Given the description of an element on the screen output the (x, y) to click on. 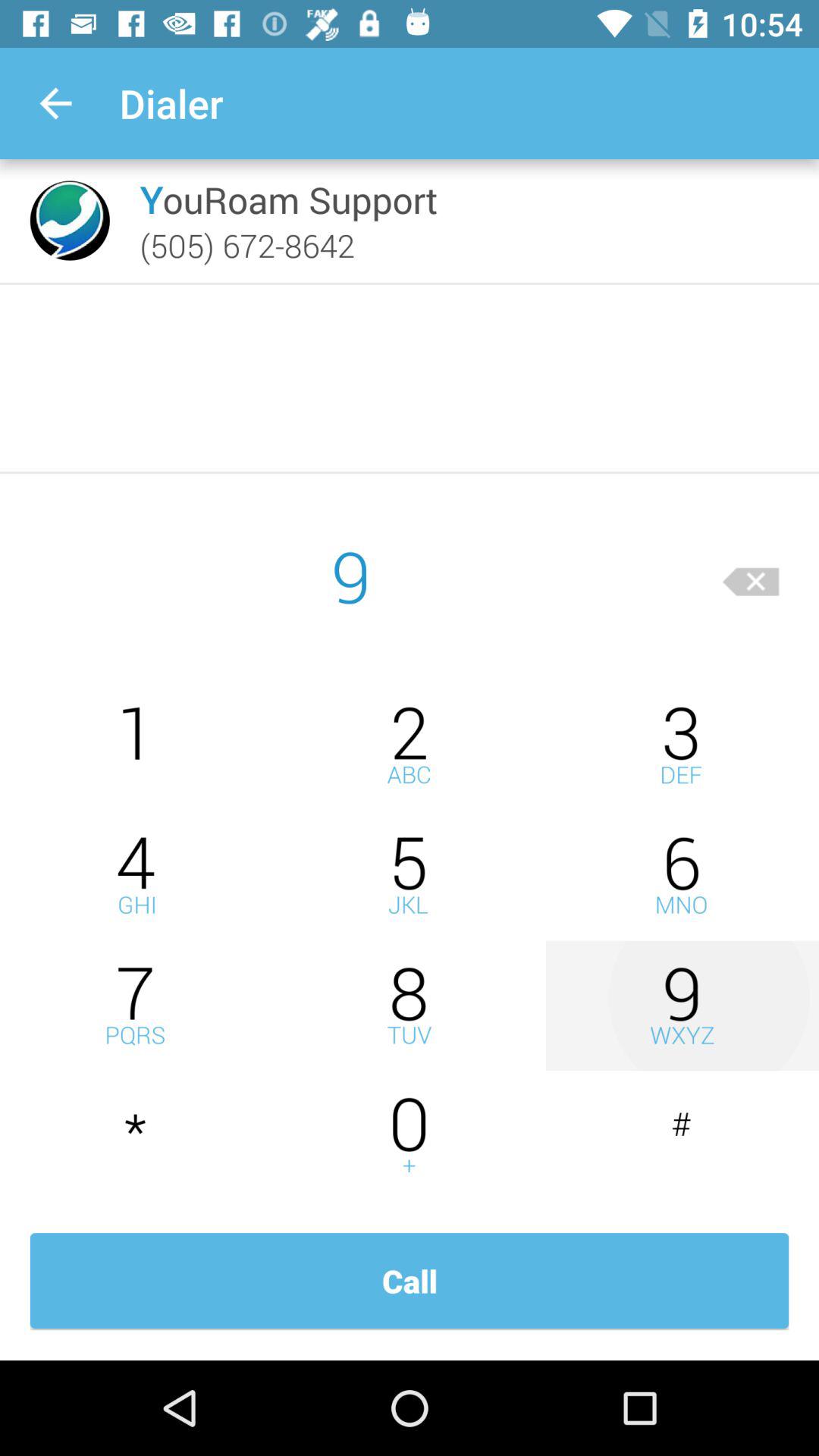
number option for the dialer (136, 745)
